Given the description of an element on the screen output the (x, y) to click on. 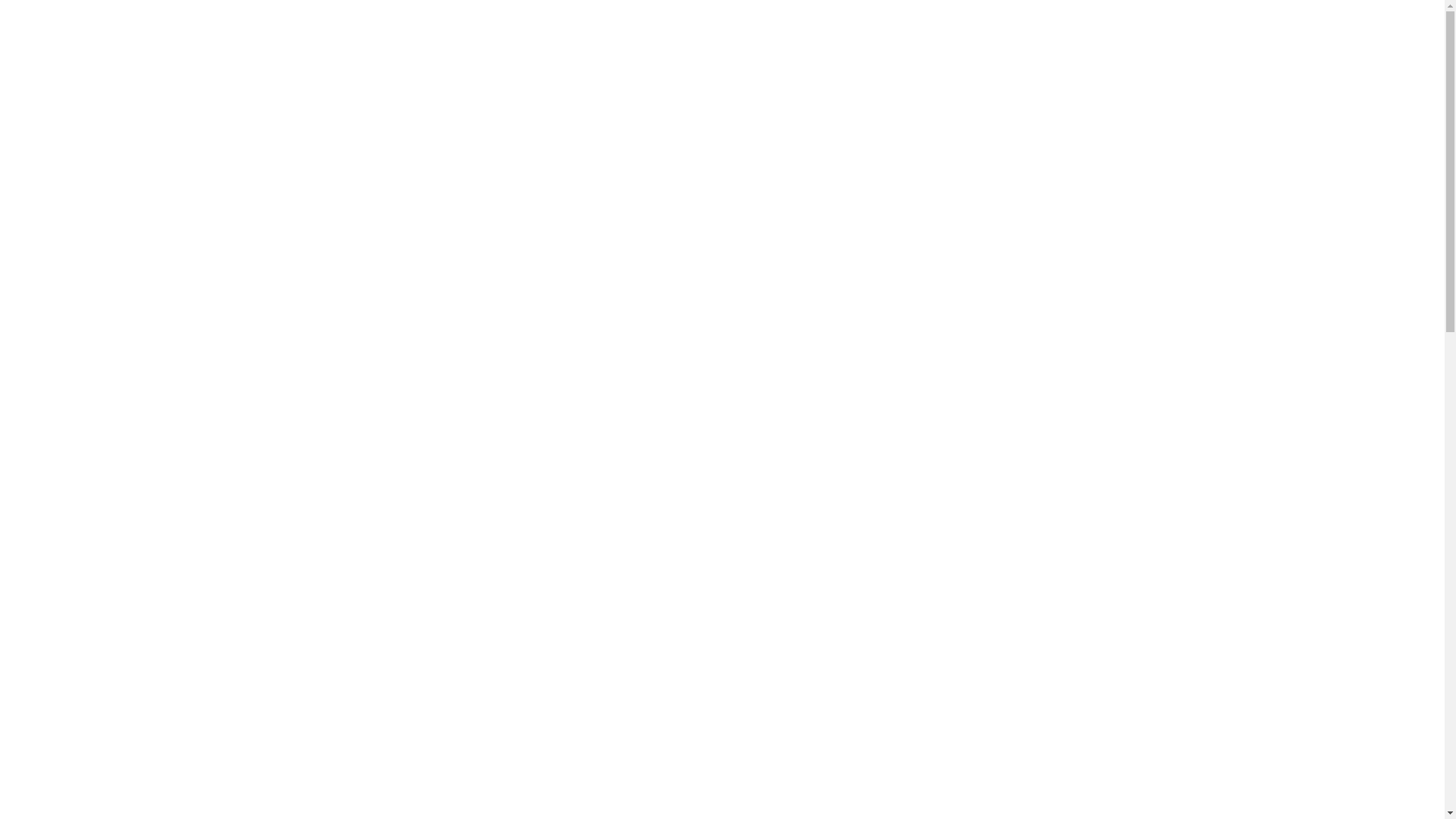
Register Element type: text (74, 122)
Log in Element type: text (21, 122)
Share Element type: text (722, 205)
Full Screen Element type: text (722, 225)
Home Element type: text (50, 69)
3D Models Element type: text (63, 83)
Add to Favourites Element type: text (722, 177)
Collections Element type: text (63, 97)
